Given the description of an element on the screen output the (x, y) to click on. 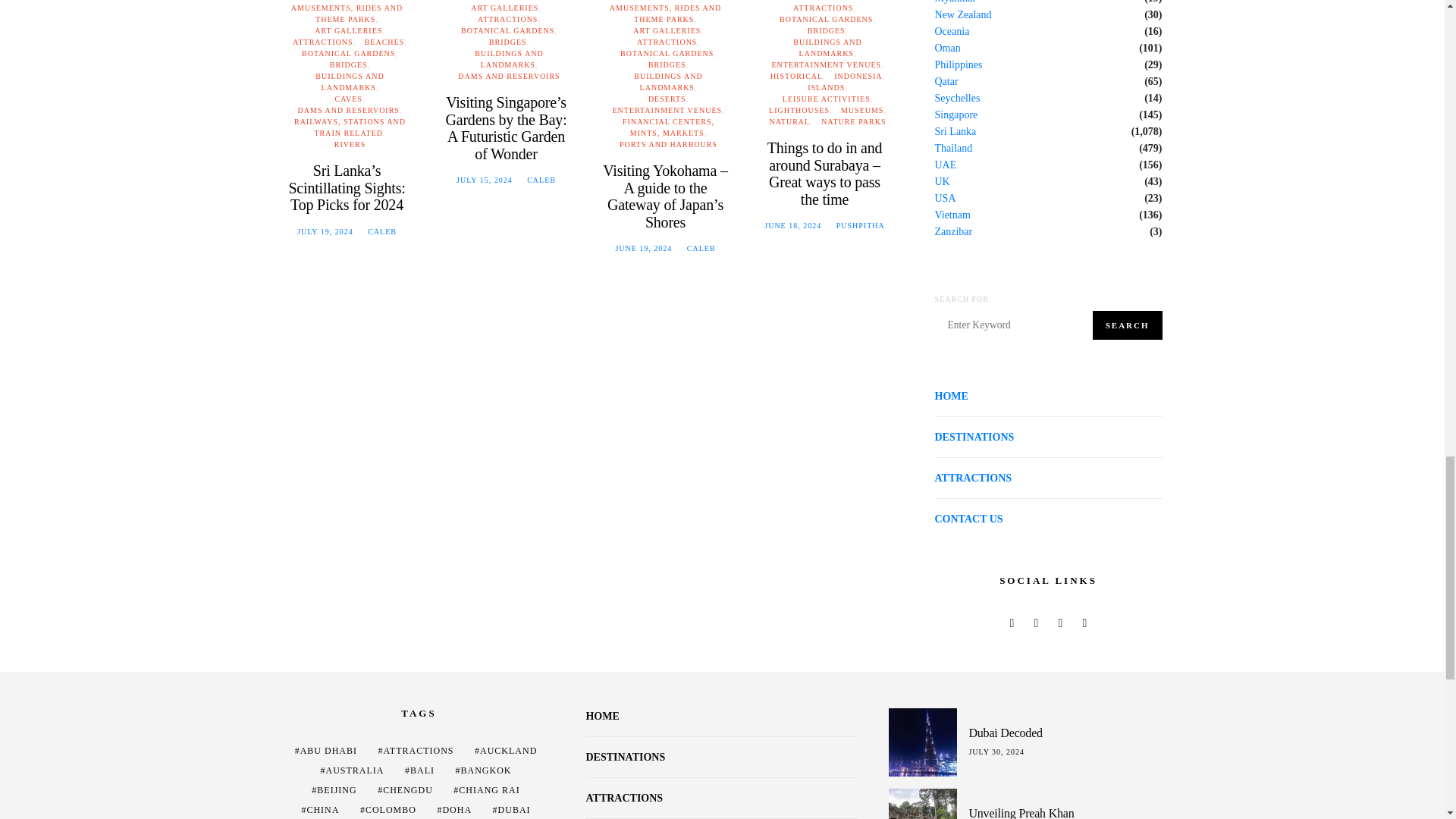
View all posts by Pushpitha (860, 225)
View all posts by caleb (541, 180)
View all posts by caleb (701, 248)
View all posts by caleb (382, 231)
